Given the description of an element on the screen output the (x, y) to click on. 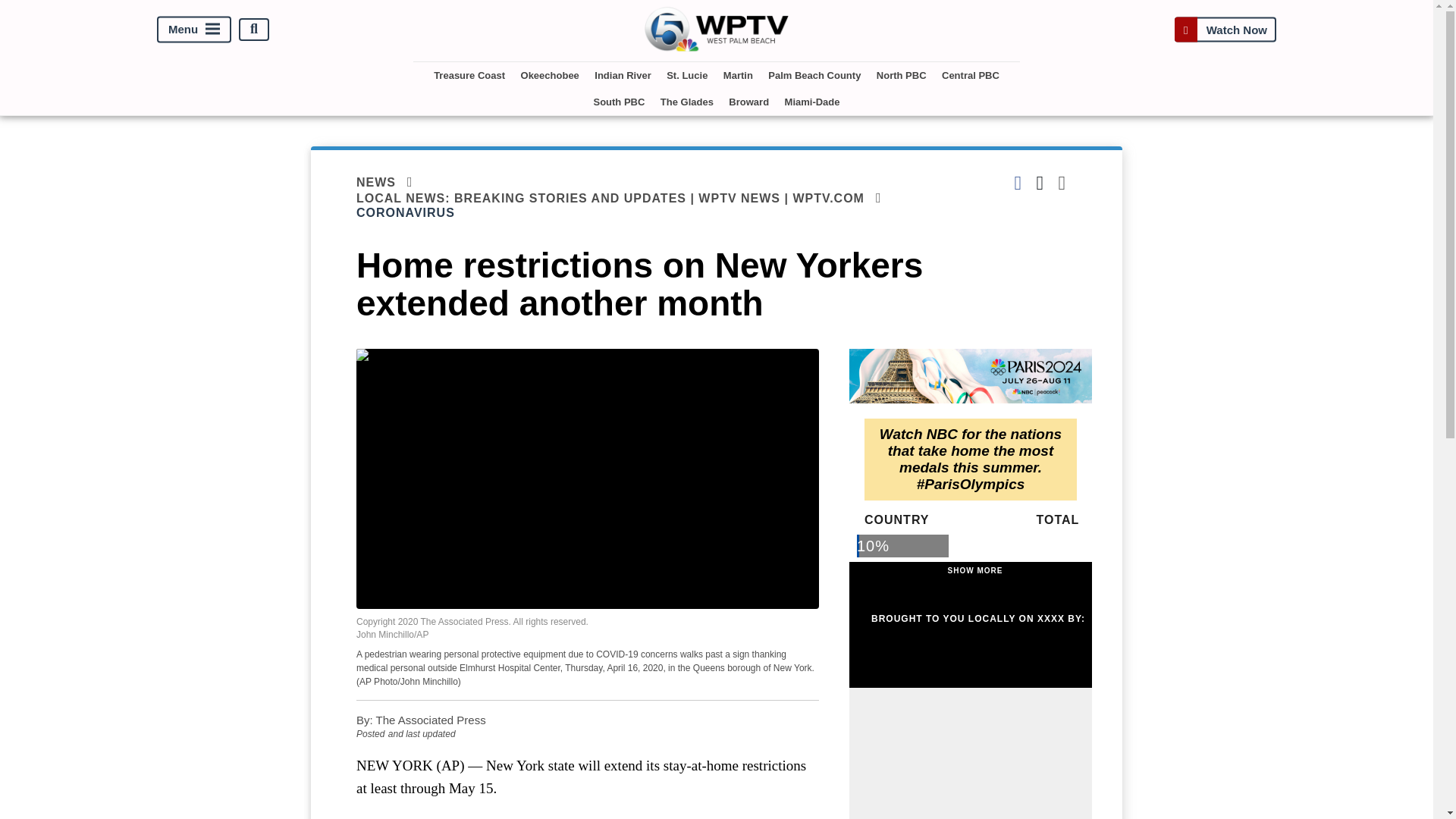
Menu (194, 28)
Watch Now (1224, 29)
